Given the description of an element on the screen output the (x, y) to click on. 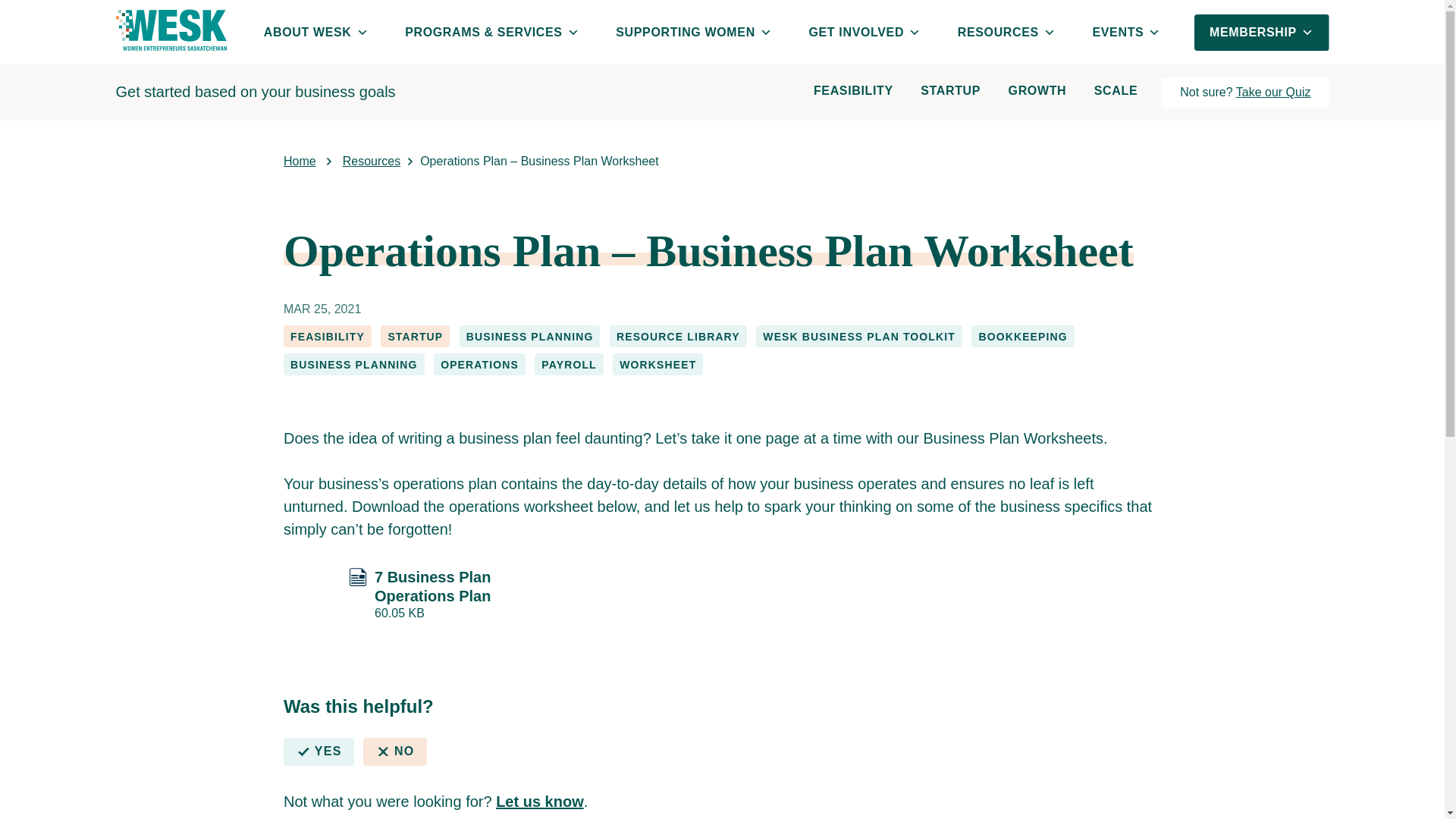
GET INVOLVED (864, 32)
EVENTS (1126, 32)
RESOURCES (1006, 32)
ABOUT WESK (316, 32)
SUPPORTING WOMEN (693, 32)
MEMBERSHIP (1261, 32)
WESK-logo Created with Sketch. (170, 32)
WESK-logo Created with Sketch. (170, 29)
